Given the description of an element on the screen output the (x, y) to click on. 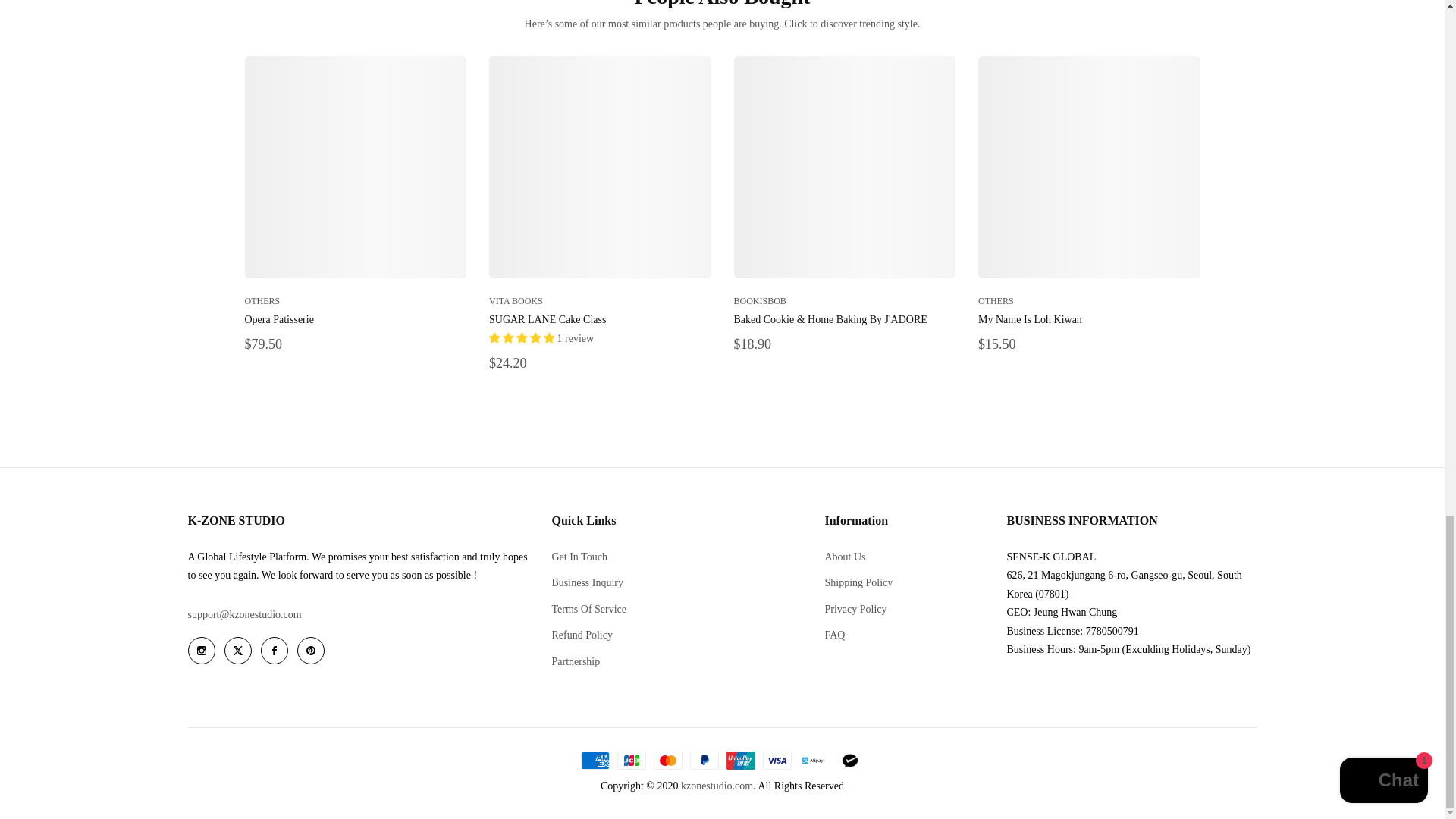
BOOKISBOB (759, 300)
Others (261, 300)
Others (995, 300)
VITA BOOKS (516, 300)
